Given the description of an element on the screen output the (x, y) to click on. 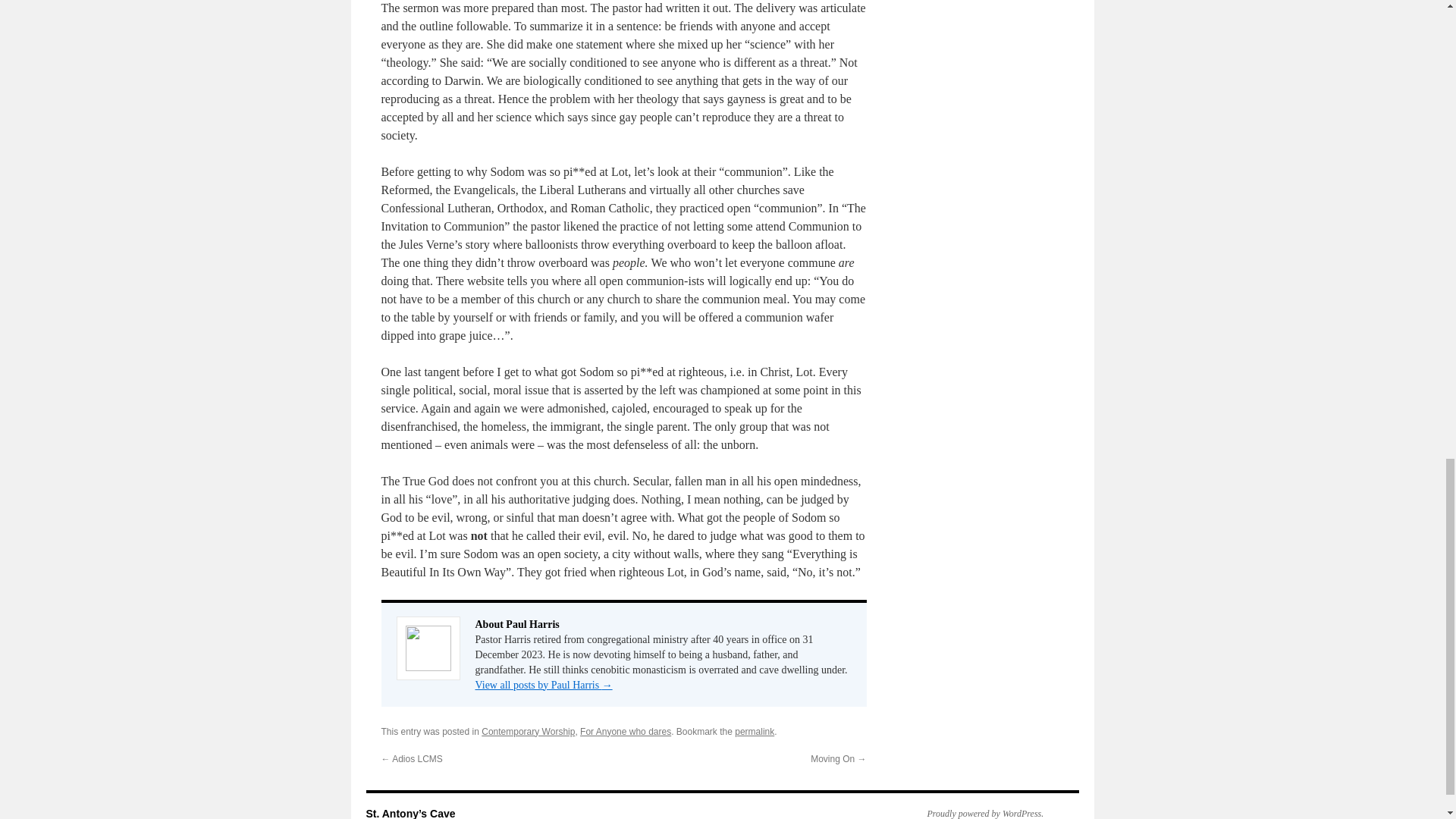
Contemporary Worship (528, 731)
permalink (754, 731)
For Anyone who dares (625, 731)
